Given the description of an element on the screen output the (x, y) to click on. 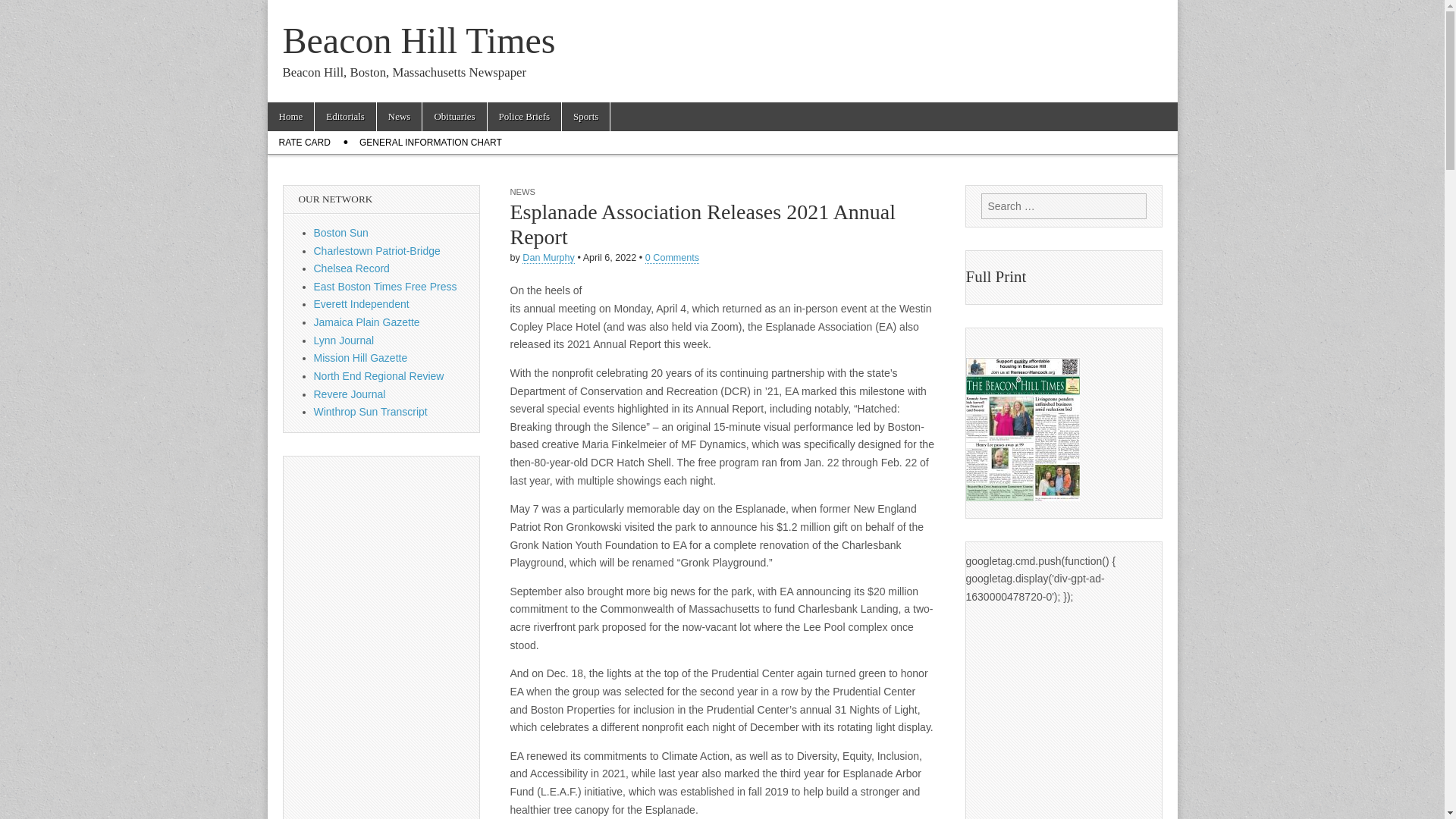
Charlestown Patriot-Bridge (377, 250)
Sports (586, 116)
RATE CARD (303, 142)
Editorials (344, 116)
NEWS (522, 191)
East Boston Times Free Press (385, 286)
Beacon Hill Times (418, 40)
Chelsea Record (352, 268)
Police Briefs (524, 116)
Winthrop Sun Transcript (371, 411)
